Given the description of an element on the screen output the (x, y) to click on. 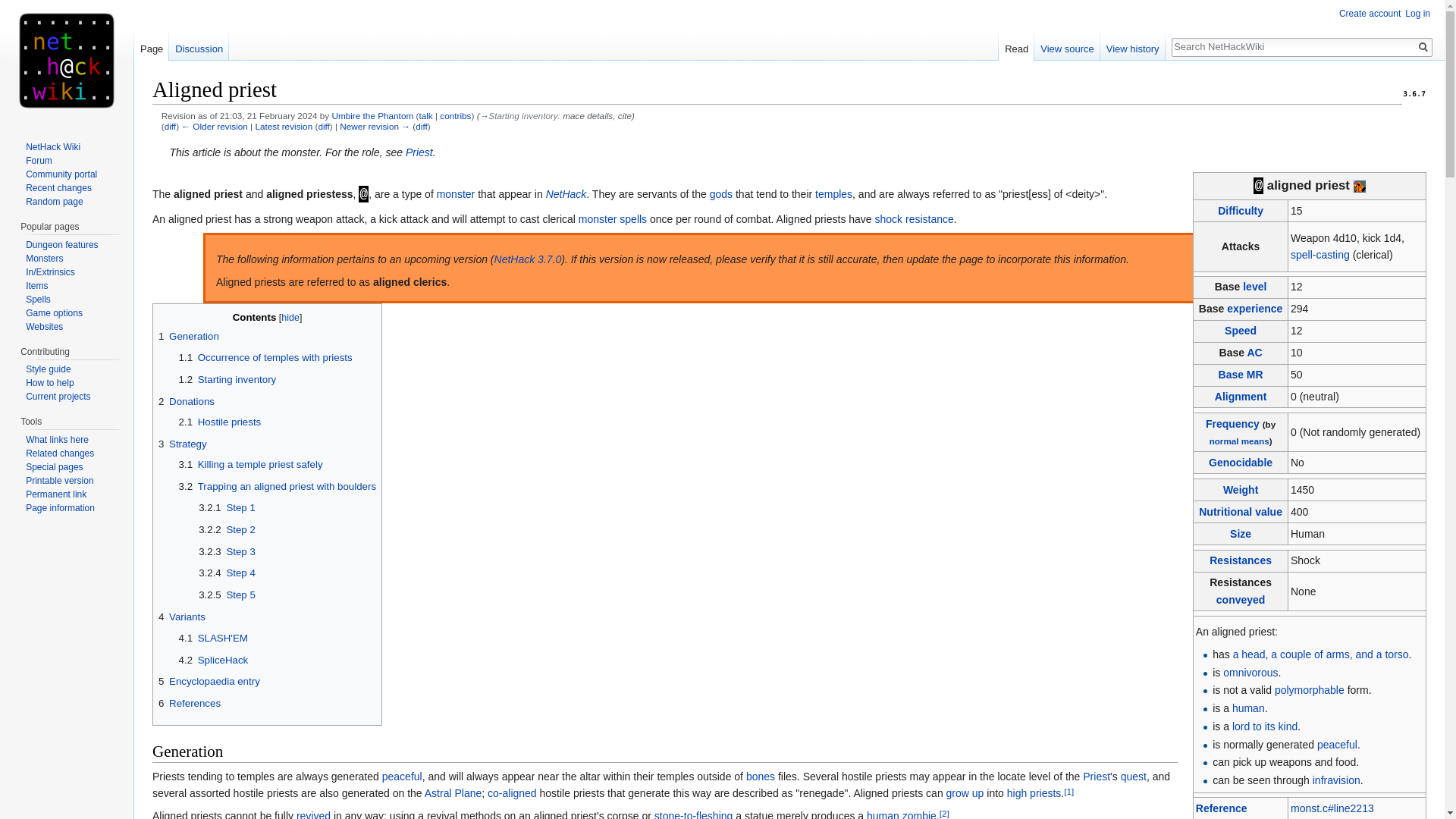
Monster spell (1319, 254)
omnivorous (1250, 671)
Weight (1240, 490)
Priest (419, 152)
Aligned priest (170, 126)
a head, a couple of arms, and a torso (1321, 654)
human (1248, 707)
contribs (454, 115)
Base MR (1240, 374)
Frequency (1232, 423)
